Given the description of an element on the screen output the (x, y) to click on. 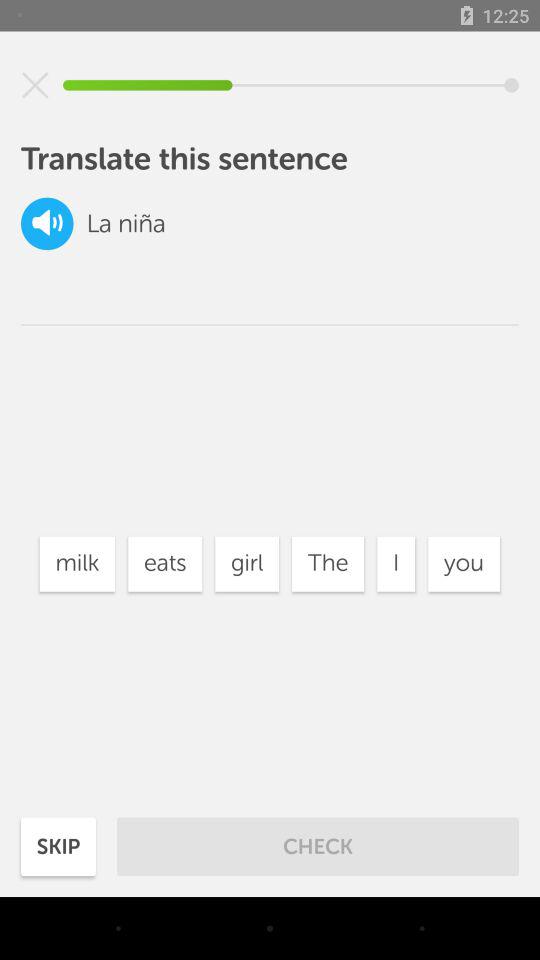
scroll to i (396, 563)
